Given the description of an element on the screen output the (x, y) to click on. 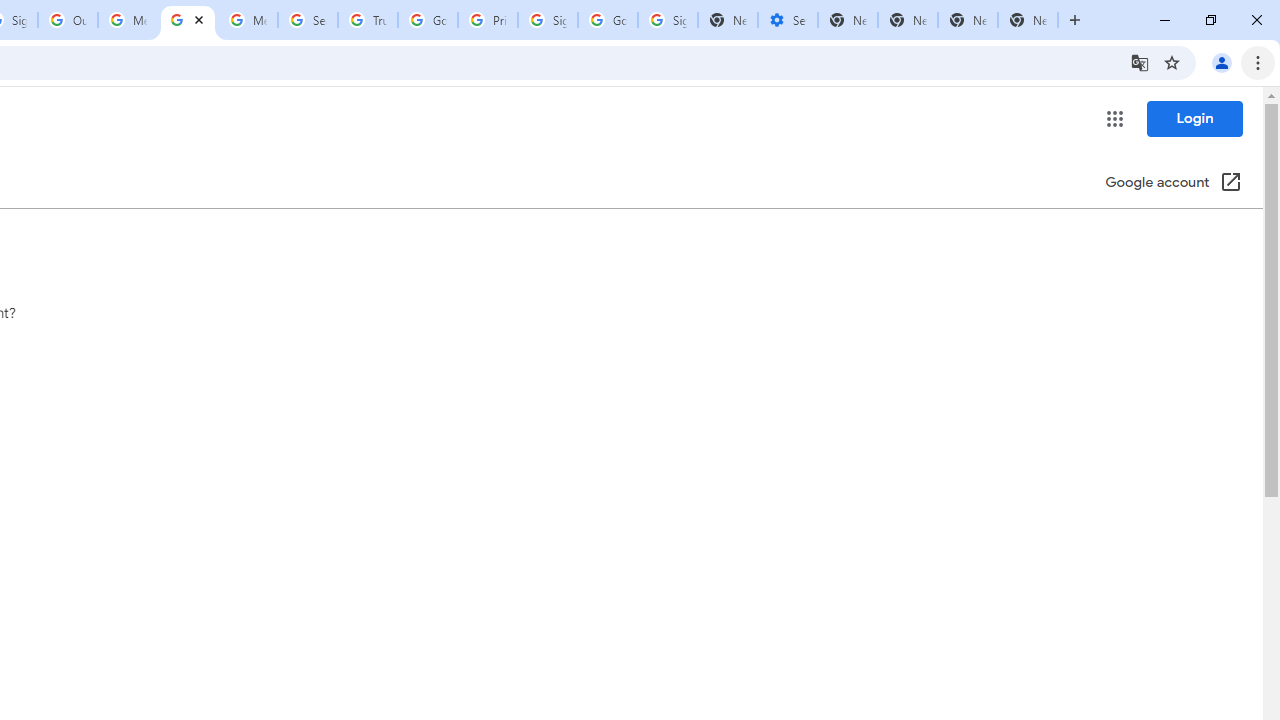
New Tab (968, 20)
New Tab (847, 20)
Google Cybersecurity Innovations - Google Safety Center (607, 20)
Sign in - Google Accounts (548, 20)
Trusted Information and Content - Google Safety Center (367, 20)
Login (1194, 118)
Google Account (Opens in new window) (1173, 183)
